Given the description of an element on the screen output the (x, y) to click on. 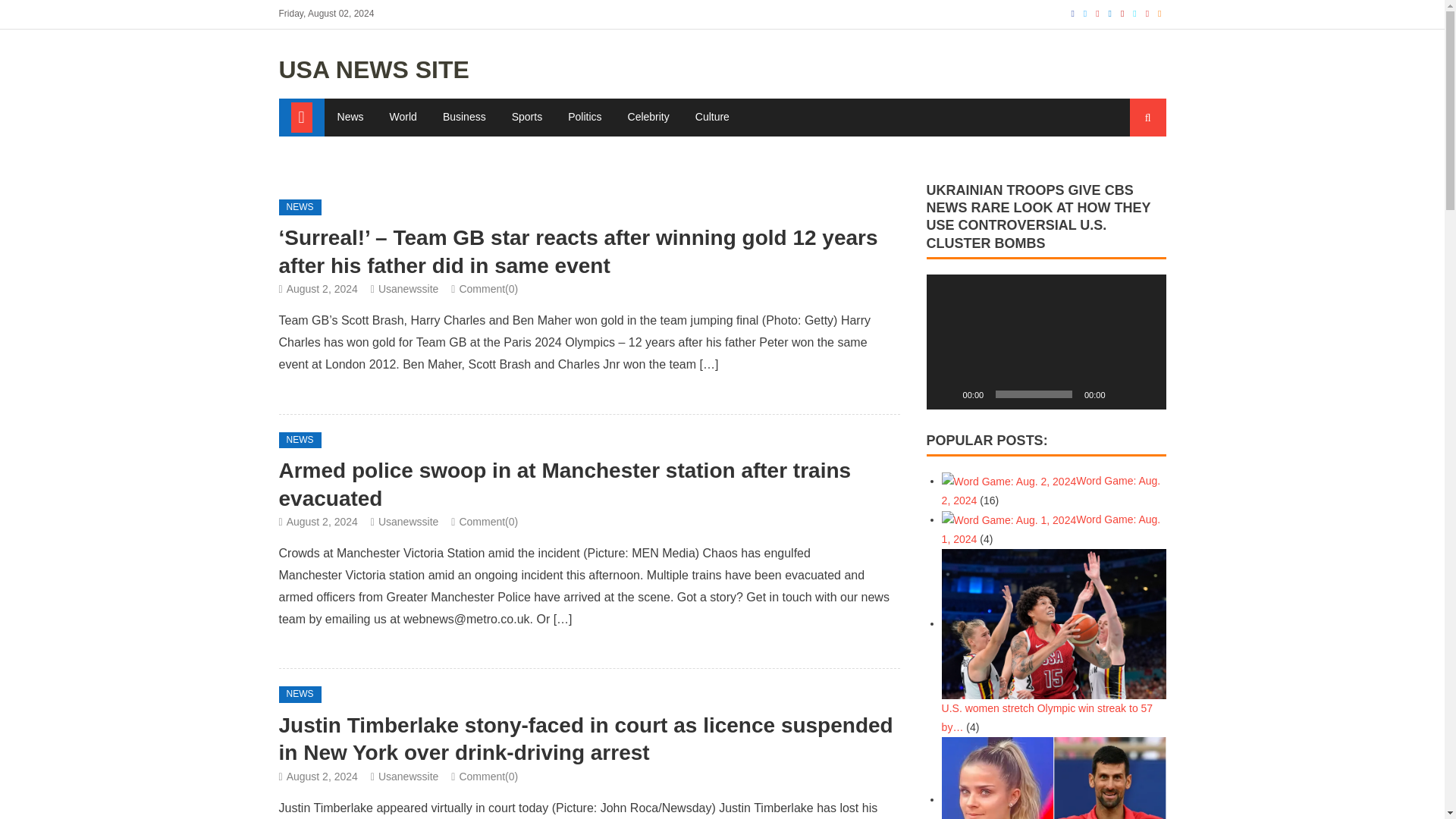
August 2, 2024 (322, 776)
NEWS (300, 207)
Usanewssite (408, 521)
August 2, 2024 (322, 288)
Mute (1122, 394)
Celebrity (648, 116)
Usanewssite (408, 288)
NEWS (300, 440)
USA NEWS SITE (373, 69)
NEWS (300, 694)
Culture (712, 116)
Usanewssite (408, 776)
Fullscreen (1146, 394)
Sports (526, 116)
